Given the description of an element on the screen output the (x, y) to click on. 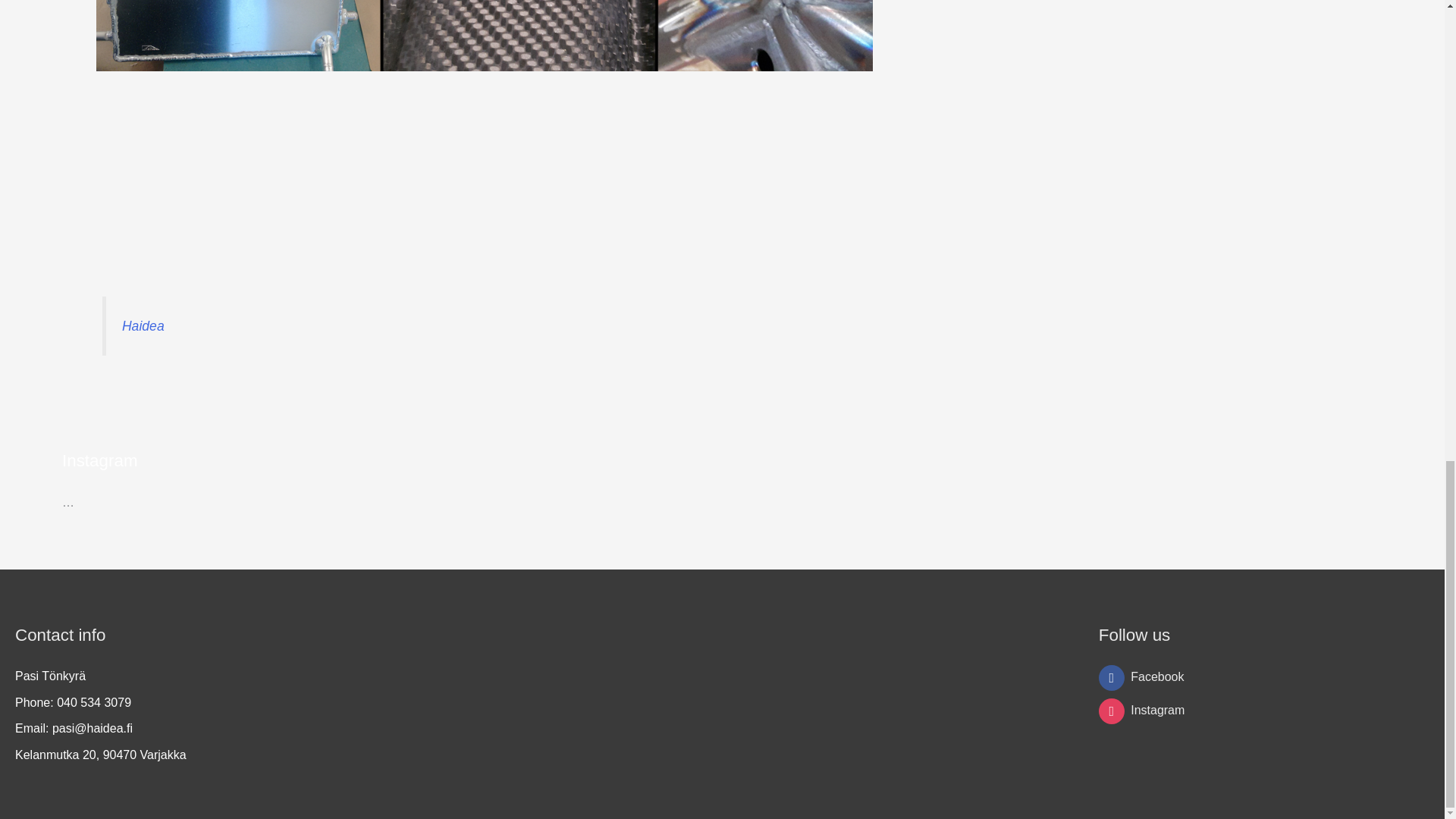
Facebook (1142, 676)
Instagram (1142, 709)
Haidea (143, 325)
